Given the description of an element on the screen output the (x, y) to click on. 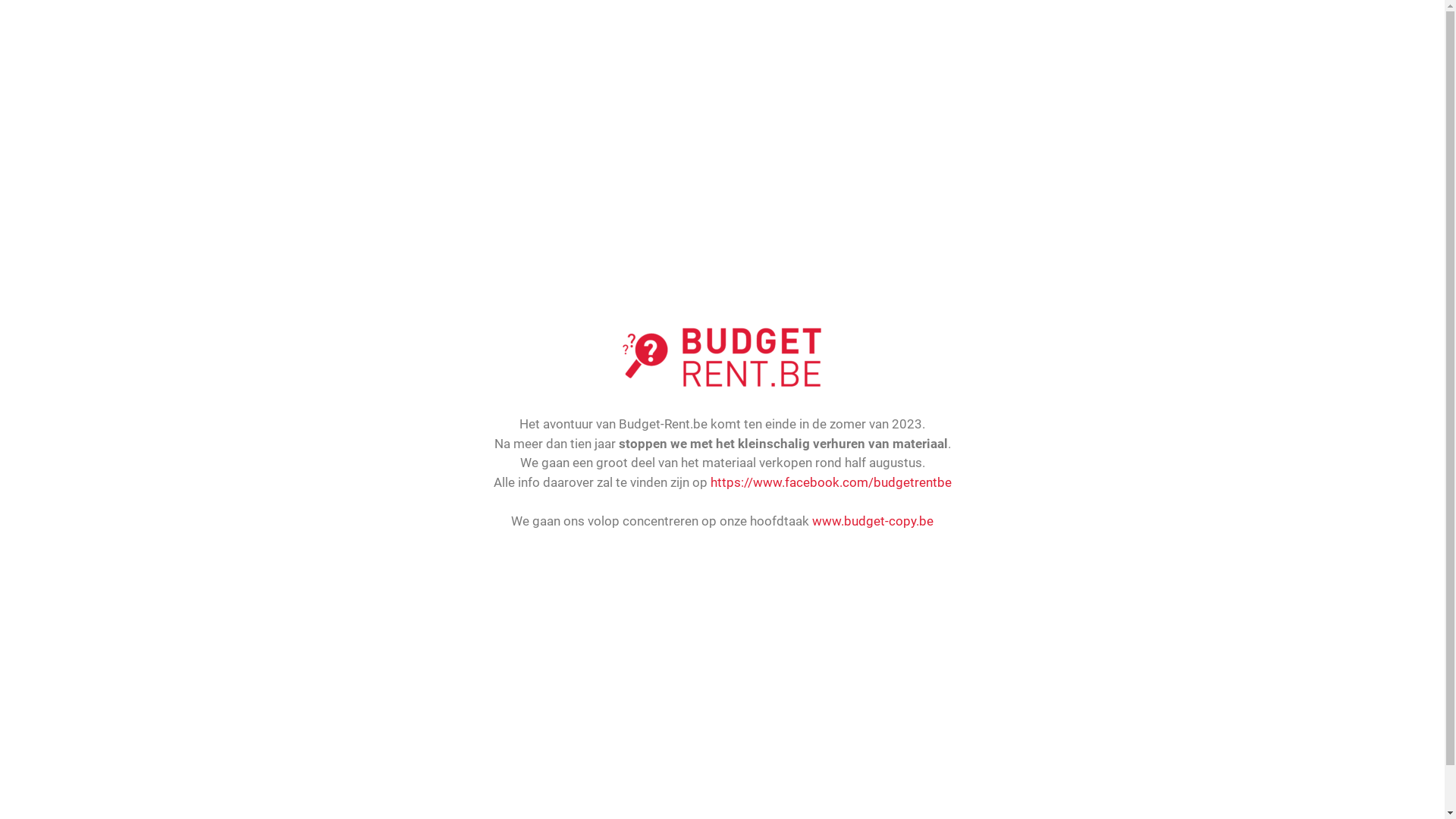
https://www.facebook.com/budgetrentbe Element type: text (829, 481)
www.budget-copy.be Element type: text (872, 520)
